Given the description of an element on the screen output the (x, y) to click on. 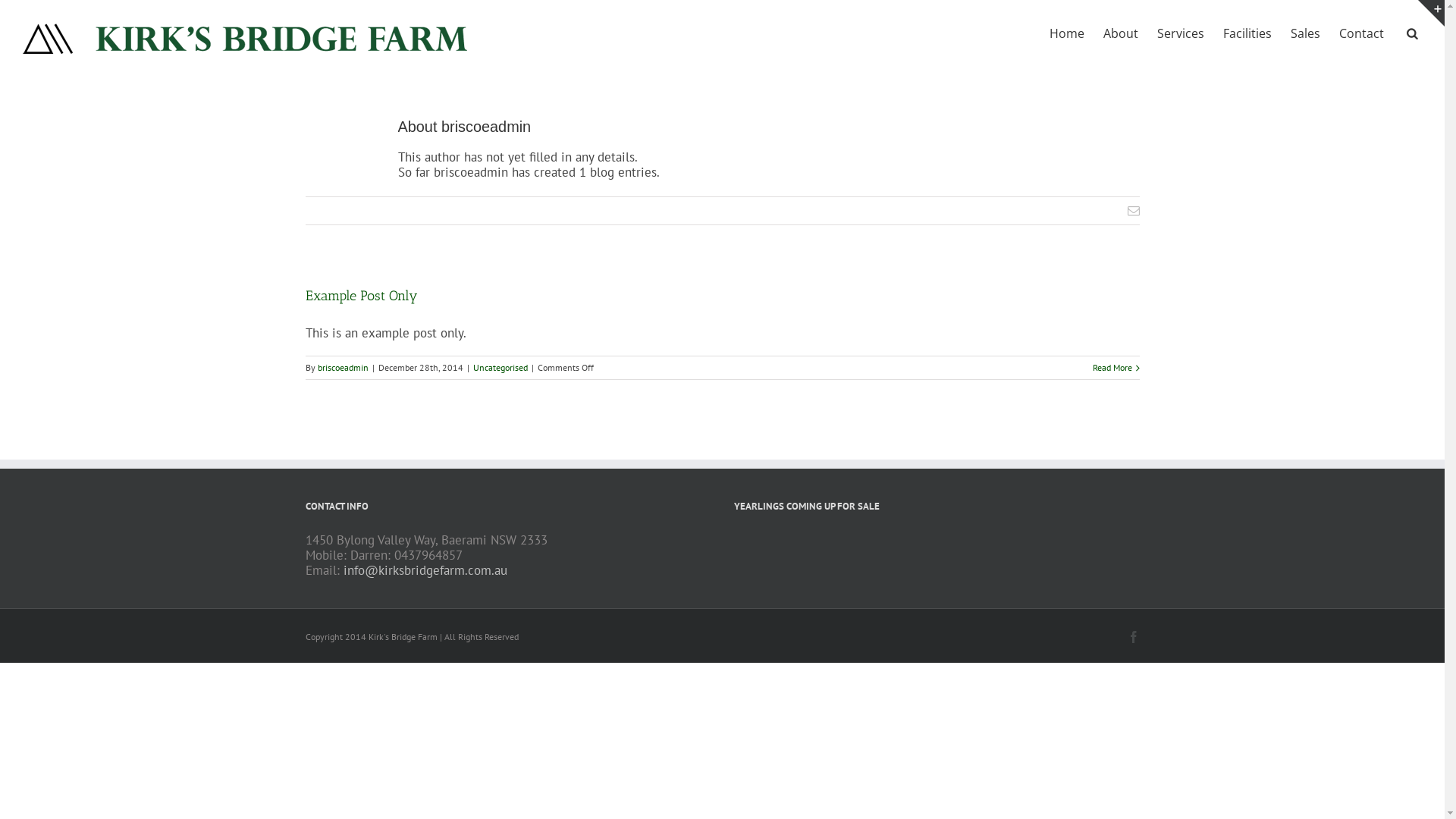
briscoeadmin Element type: text (341, 367)
Facilities Element type: text (1247, 32)
Example Post Only Element type: text (360, 295)
About Element type: text (1120, 32)
Home Element type: text (1066, 32)
Read More Element type: text (1111, 367)
Contact Element type: text (1361, 32)
info@kirksbridgefarm.com.au Element type: text (424, 569)
Mail Element type: hover (1132, 210)
Services Element type: text (1180, 32)
Sales Element type: text (1305, 32)
Uncategorised Element type: text (500, 367)
Facebook Element type: hover (1132, 636)
